Given the description of an element on the screen output the (x, y) to click on. 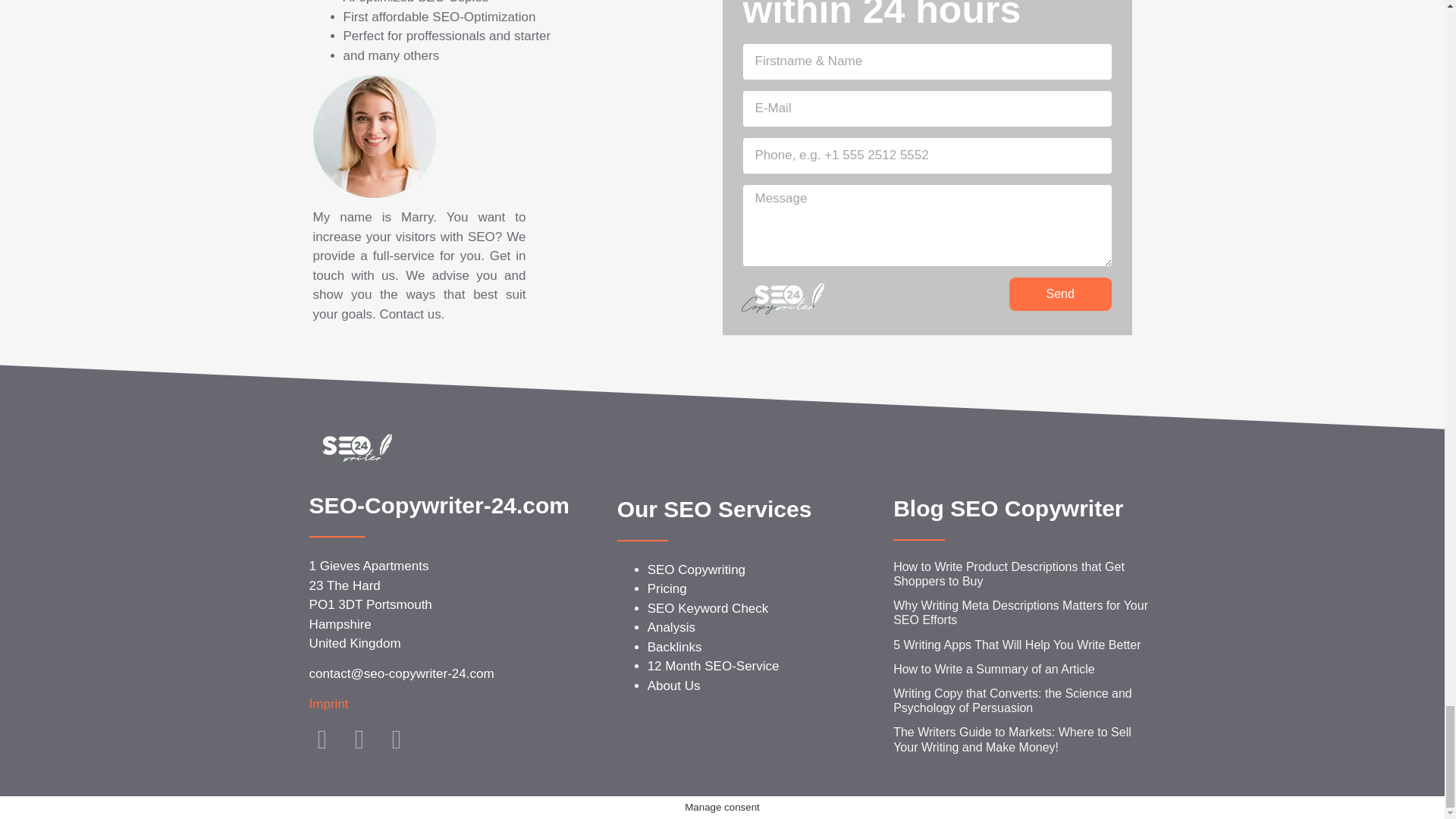
Pricing (667, 588)
SEO Copywriting (696, 569)
SEO Keyword Check (707, 608)
Imprint (328, 703)
Send (1060, 294)
Backlinks (674, 646)
Analysis (671, 626)
